Given the description of an element on the screen output the (x, y) to click on. 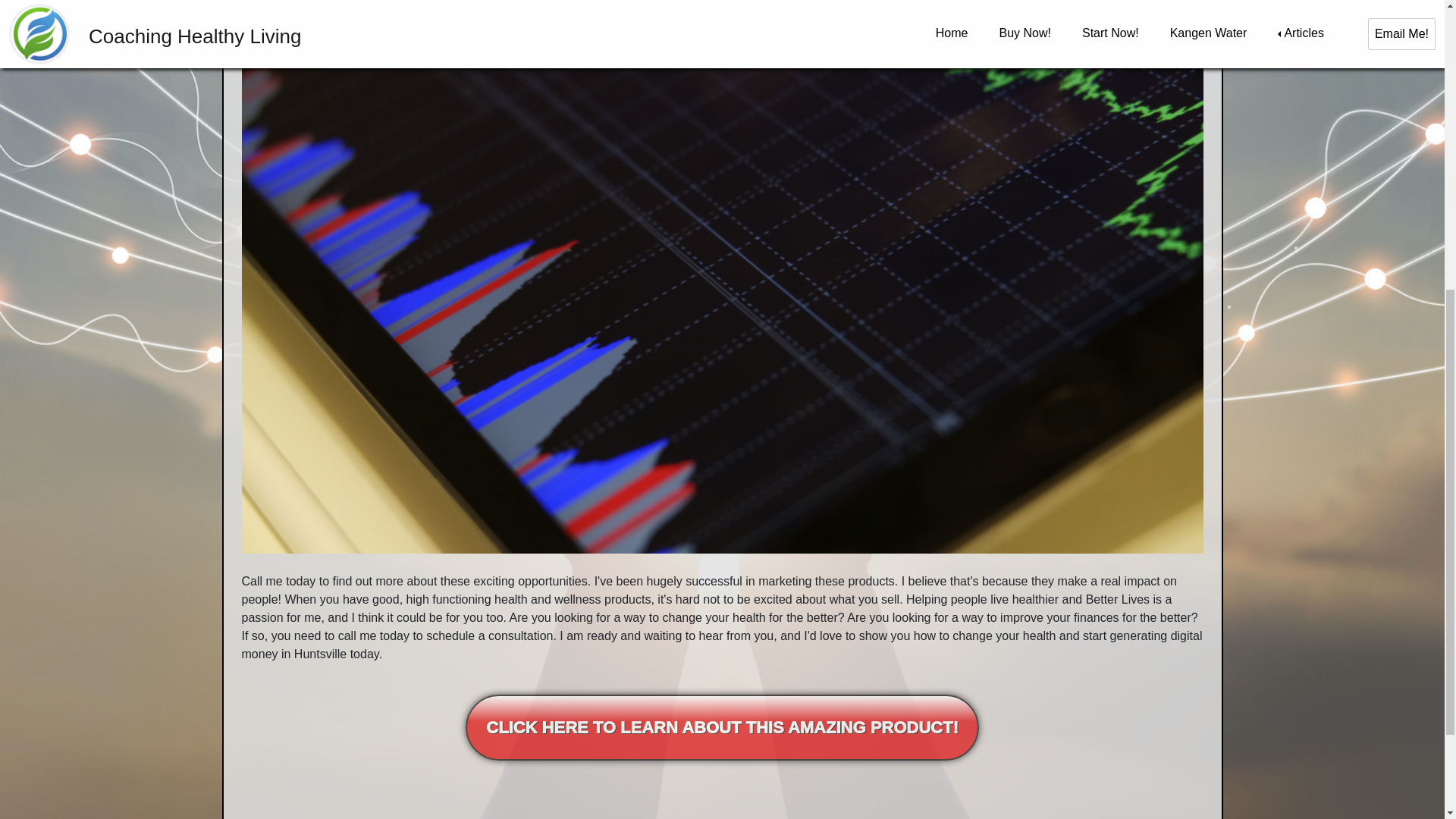
CLICK HERE TO LEARN ABOUT THIS AMAZING PRODUCT! (721, 726)
CLICK HERE TO LEARN ABOUT THIS AMAZING PRODUCT! (721, 727)
